Given the description of an element on the screen output the (x, y) to click on. 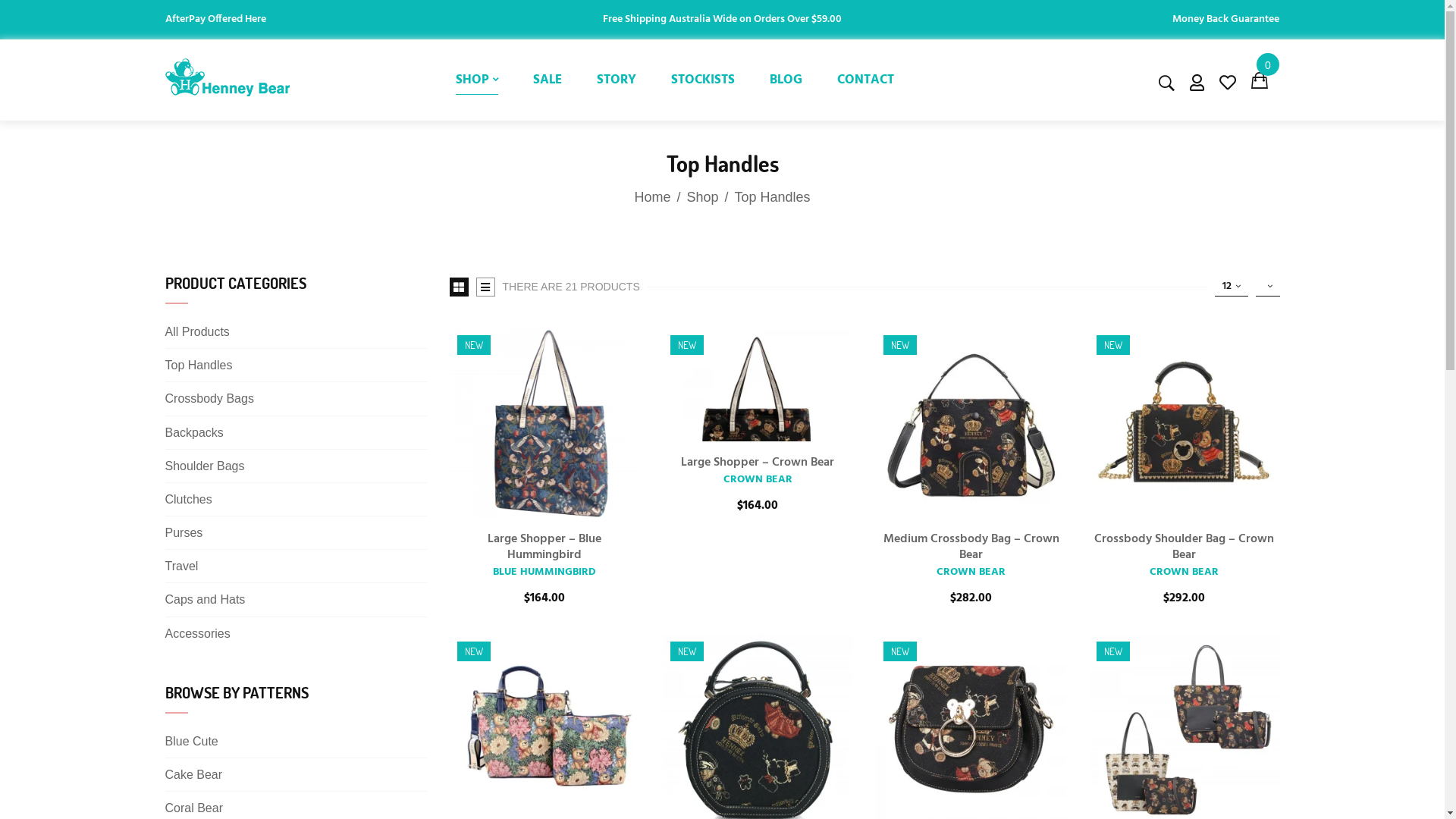
Shop Element type: text (702, 196)
Crossbody Bags Element type: text (209, 398)
Backpacks Element type: text (194, 432)
SHOP Element type: text (476, 80)
Top Handles Element type: text (198, 364)
Caps and Hats Element type: text (205, 599)
Accessories Element type: text (197, 633)
Home Element type: text (651, 196)
Coral Bear Element type: text (193, 807)
BLOG Element type: text (785, 80)
SALE Element type: text (547, 80)
Clutches Element type: text (188, 498)
Purses Element type: text (184, 532)
STOCKISTS Element type: text (702, 80)
STORY Element type: text (616, 80)
CONTACT Element type: text (865, 80)
Blue Cute Element type: text (191, 740)
Cake Bear Element type: text (193, 774)
0 Element type: text (1265, 78)
Travel Element type: text (181, 565)
Shoulder Bags Element type: text (204, 465)
All Products Element type: text (197, 331)
